Given the description of an element on the screen output the (x, y) to click on. 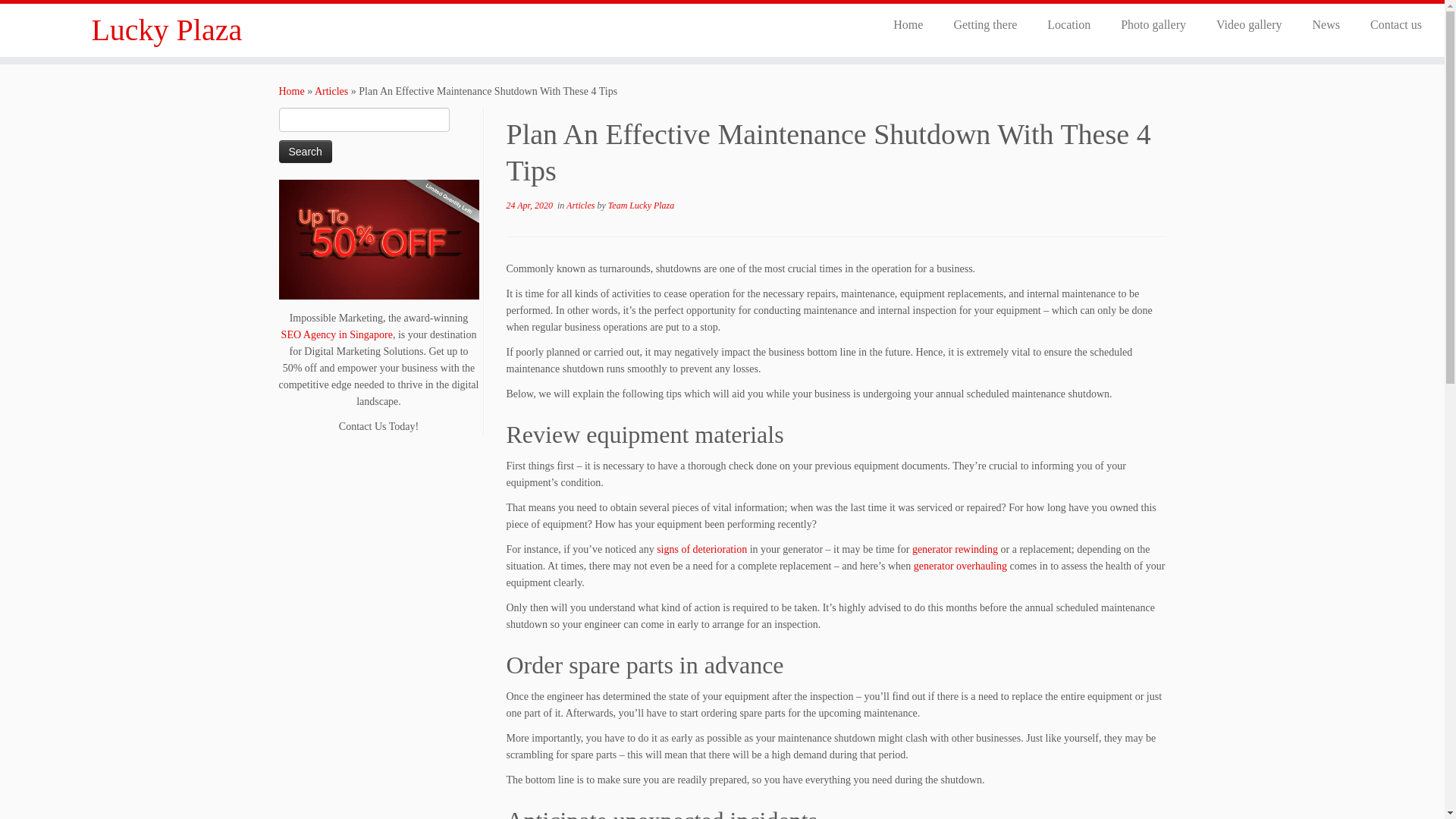
1:27 pm (529, 204)
Generator Overhauling, Generator Overhauling Singapore (960, 565)
generator rewinding (954, 549)
View all posts by Team Lucky Plaza (641, 204)
Getting there (984, 24)
Contact us (1388, 24)
News (1326, 24)
Search (305, 151)
Photo gallery (1153, 24)
Digital Marketing Agency Singapore (379, 239)
Lucky Plaza (166, 30)
Articles (581, 204)
Video gallery (1249, 24)
Location (1068, 24)
Lucky Plaza (291, 91)
